Given the description of an element on the screen output the (x, y) to click on. 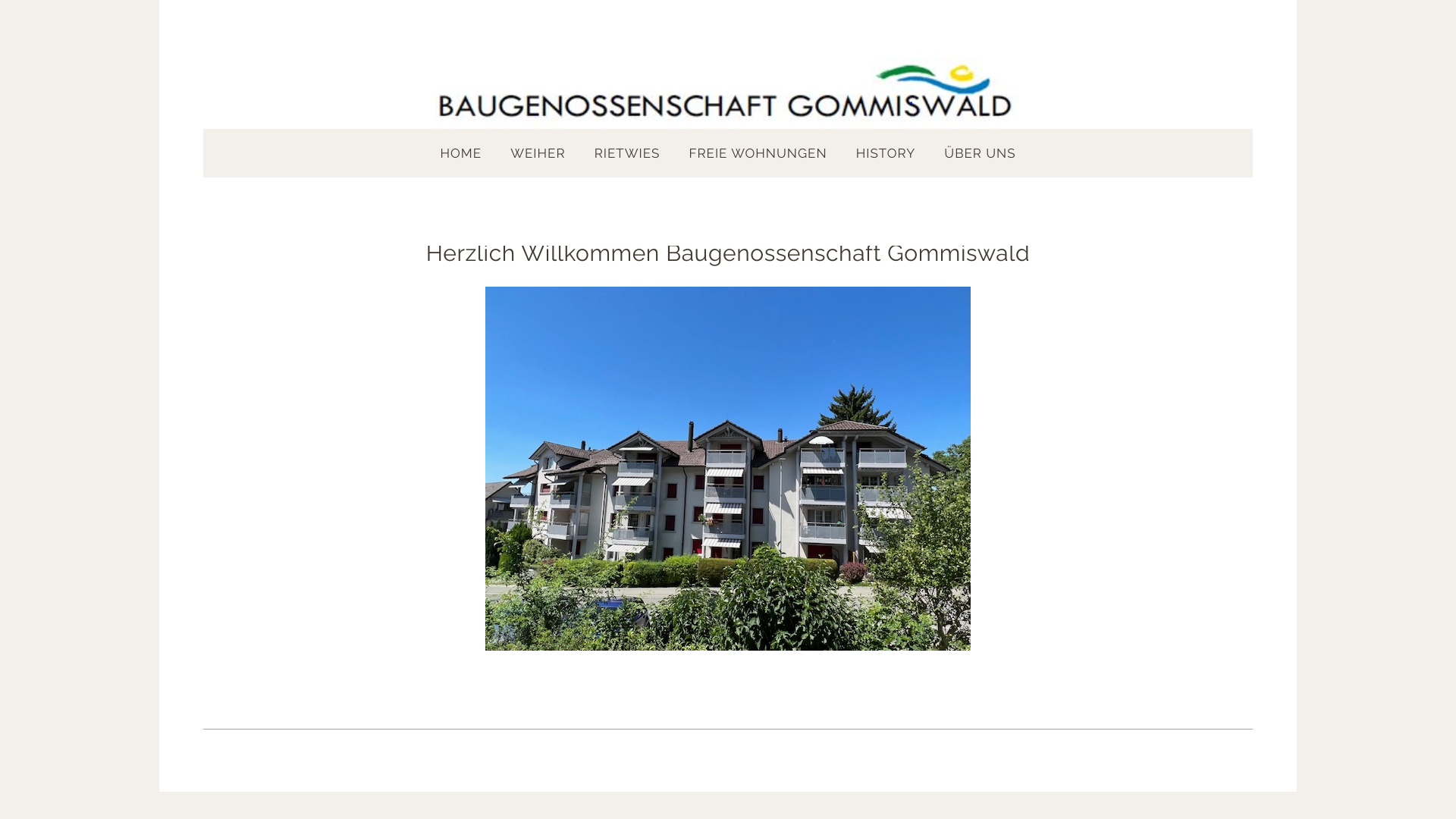
logo Element type: hover (727, 82)
FREIE WOHNUNGEN Element type: text (757, 152)
HOME Element type: text (460, 152)
WEIHER Element type: text (537, 152)
RIETWIES Element type: text (627, 152)
HISTORY Element type: text (885, 152)
